Given the description of an element on the screen output the (x, y) to click on. 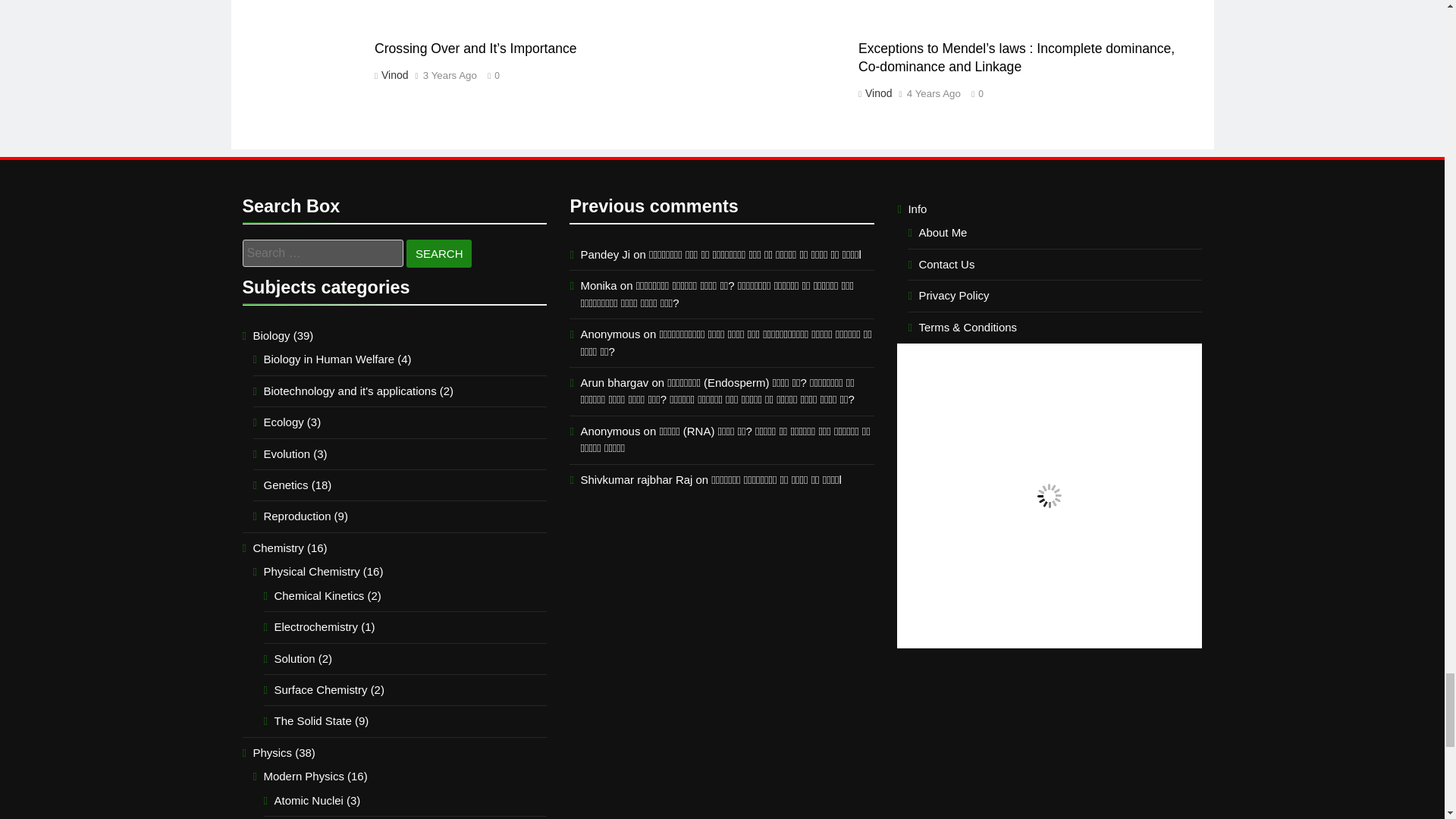
Search (438, 253)
Search (438, 253)
